Given the description of an element on the screen output the (x, y) to click on. 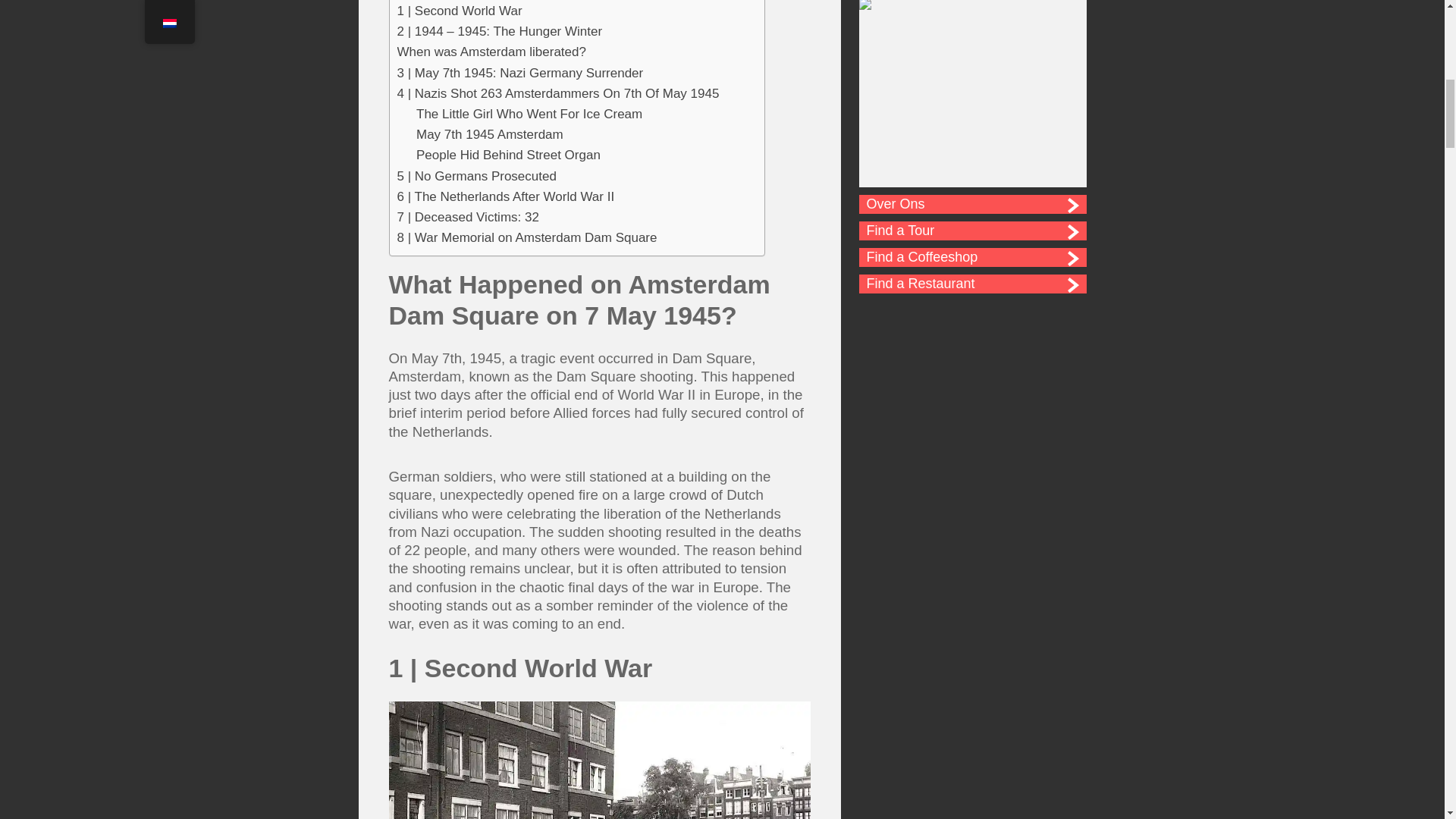
May 7th 1945 Amsterdam (489, 134)
People Hid Behind Street Organ (507, 154)
When was Amsterdam liberated? (491, 51)
The Little Girl Who Went For Ice Cream (529, 114)
